Given the description of an element on the screen output the (x, y) to click on. 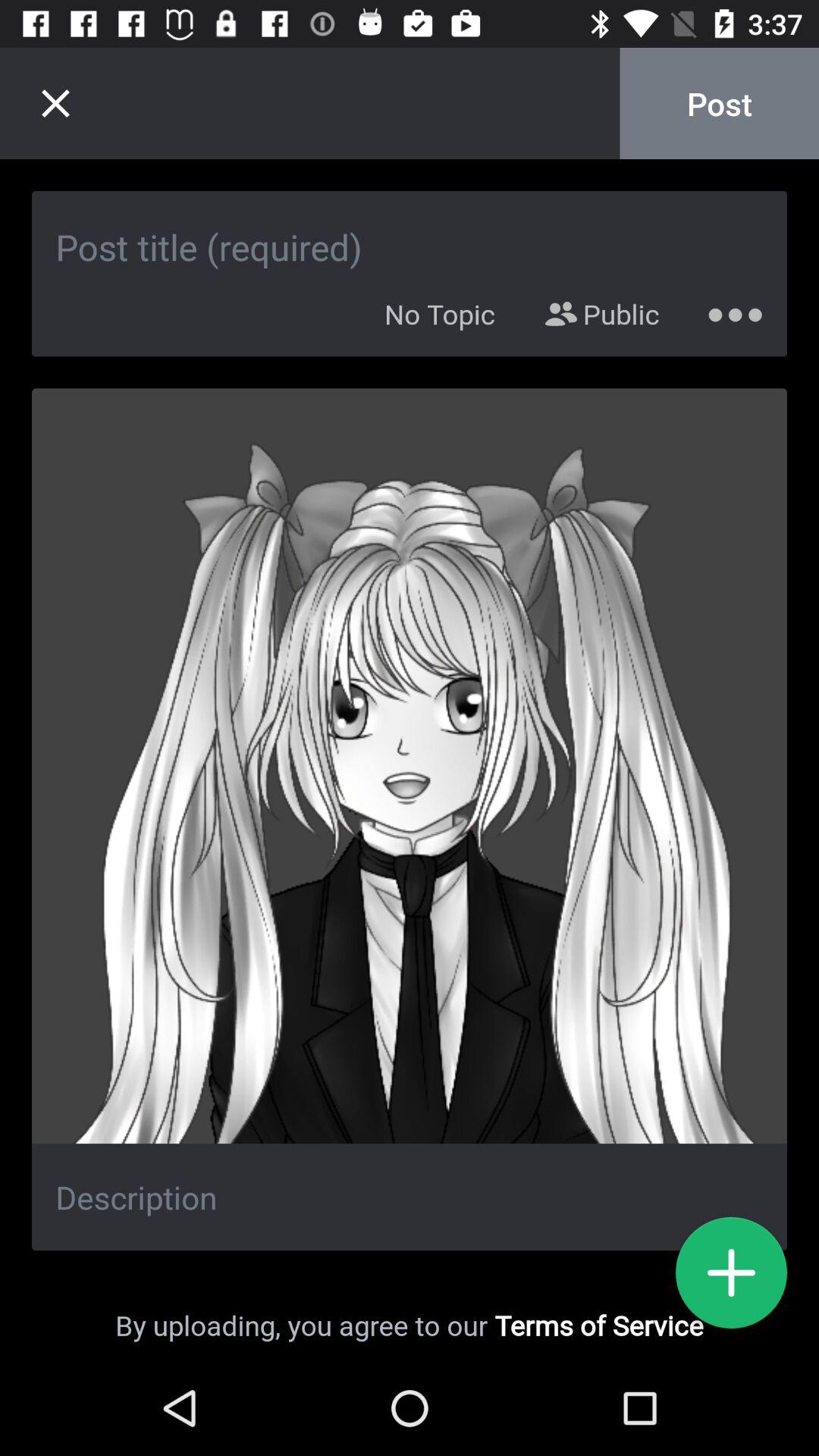
description box (409, 1196)
